Given the description of an element on the screen output the (x, y) to click on. 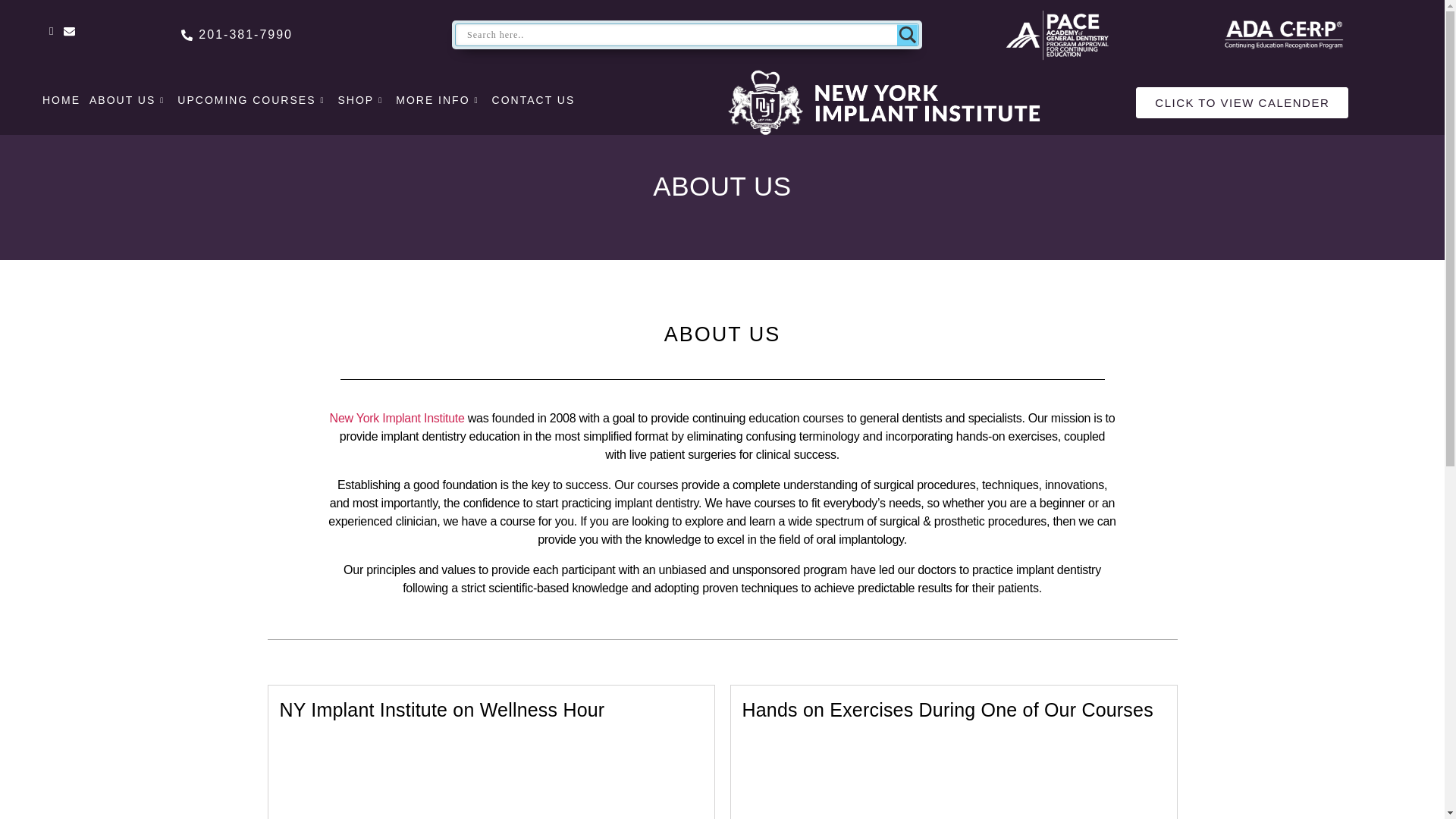
UPCOMING COURSES (253, 99)
ABOUT US (128, 99)
SHOP (362, 99)
201-381-7990 (296, 34)
